Given the description of an element on the screen output the (x, y) to click on. 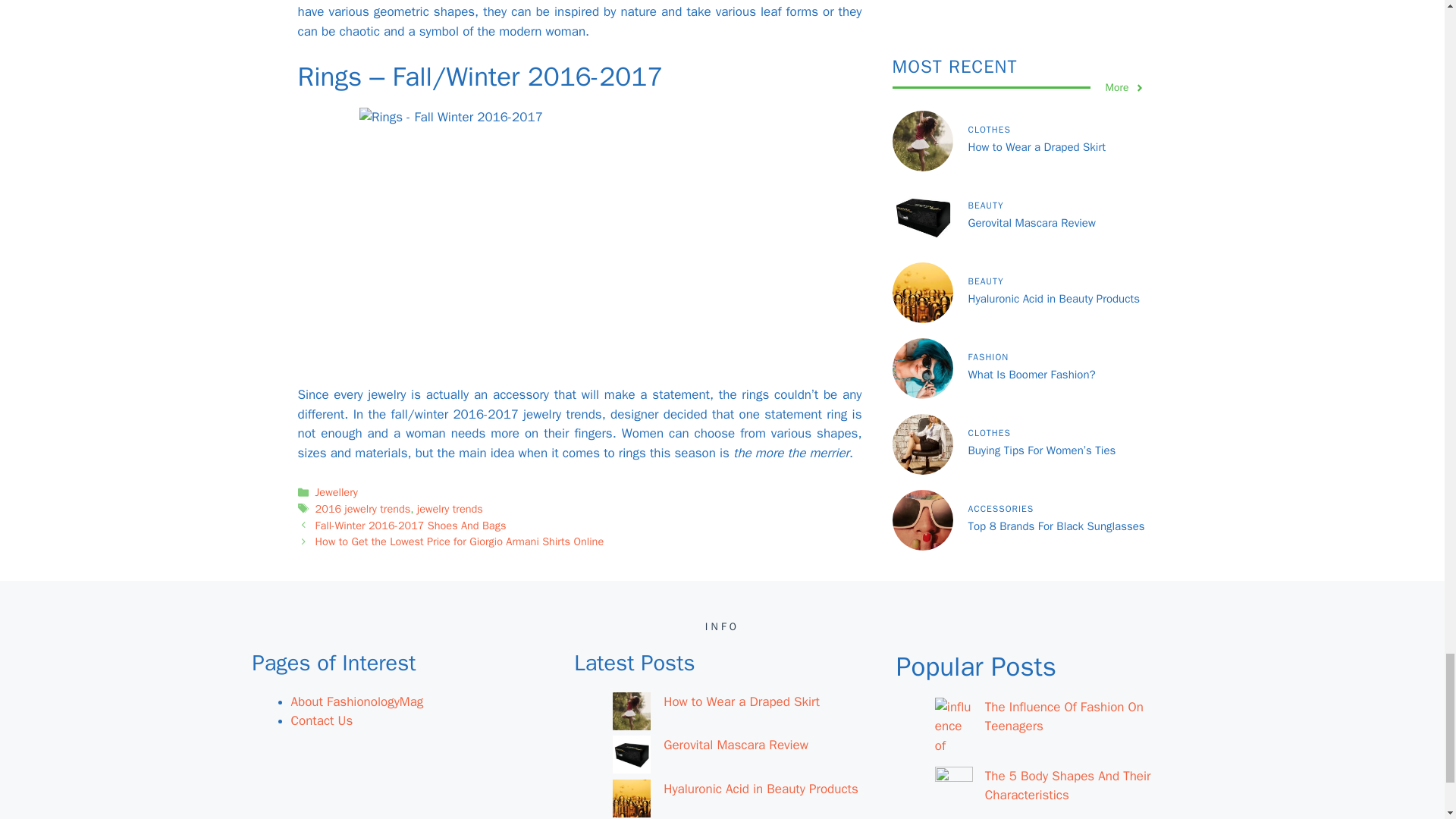
How to Wear a Draped Skirt (741, 701)
Contact Us (322, 720)
2016 jewelry trends (362, 508)
jewelry trends (449, 508)
Fall-Winter 2016-2017 Shoes And Bags (410, 525)
How to Get the Lowest Price for Giorgio Armani Shirts Online (459, 540)
Jewellery (336, 491)
About FashionologyMag (357, 701)
